Given the description of an element on the screen output the (x, y) to click on. 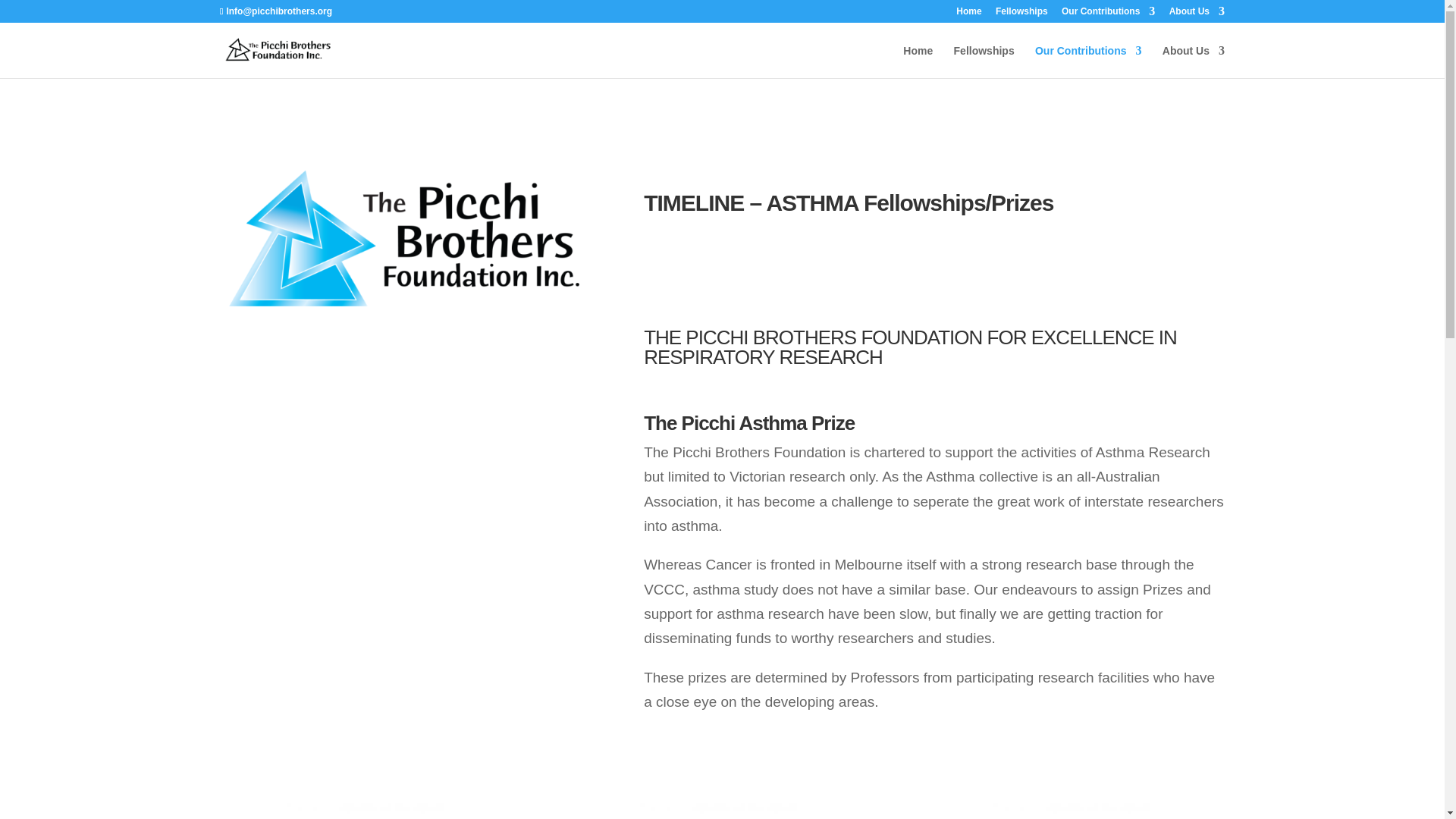
Our Contributions (1107, 14)
Institutions-MelbUni (721, 811)
Institutions-MelbUni (1075, 811)
Our Contributions (1088, 61)
About Us (1196, 14)
Home (917, 61)
Institutions-MelbUni (368, 811)
Home (968, 14)
PicchiLogo2024 v2 (403, 237)
Fellowships (1021, 14)
